Given the description of an element on the screen output the (x, y) to click on. 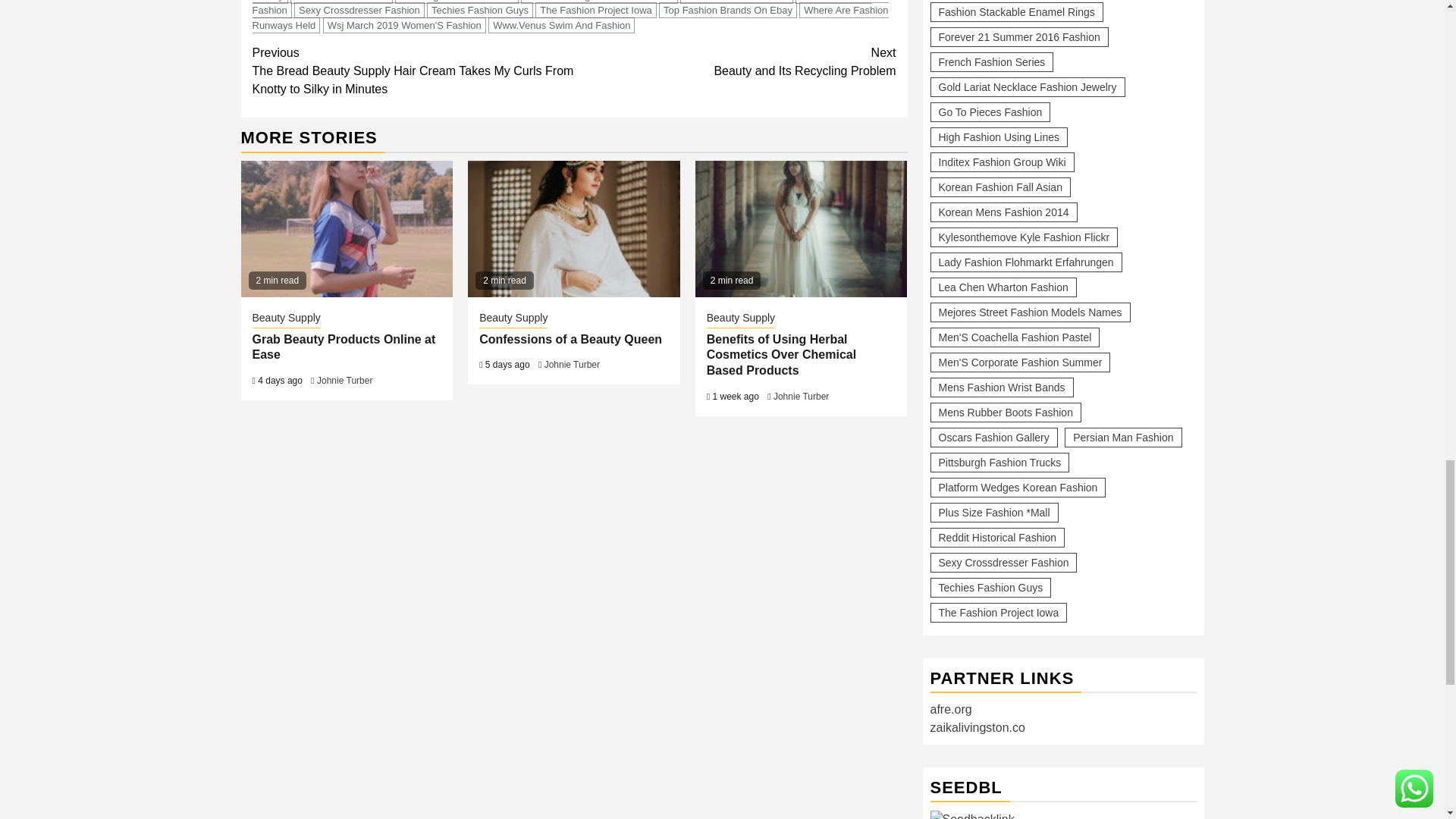
Grab Beauty Products Online at Ease (346, 228)
Seedbacklink (971, 814)
Confessions of a Beauty Queen (573, 228)
